Given the description of an element on the screen output the (x, y) to click on. 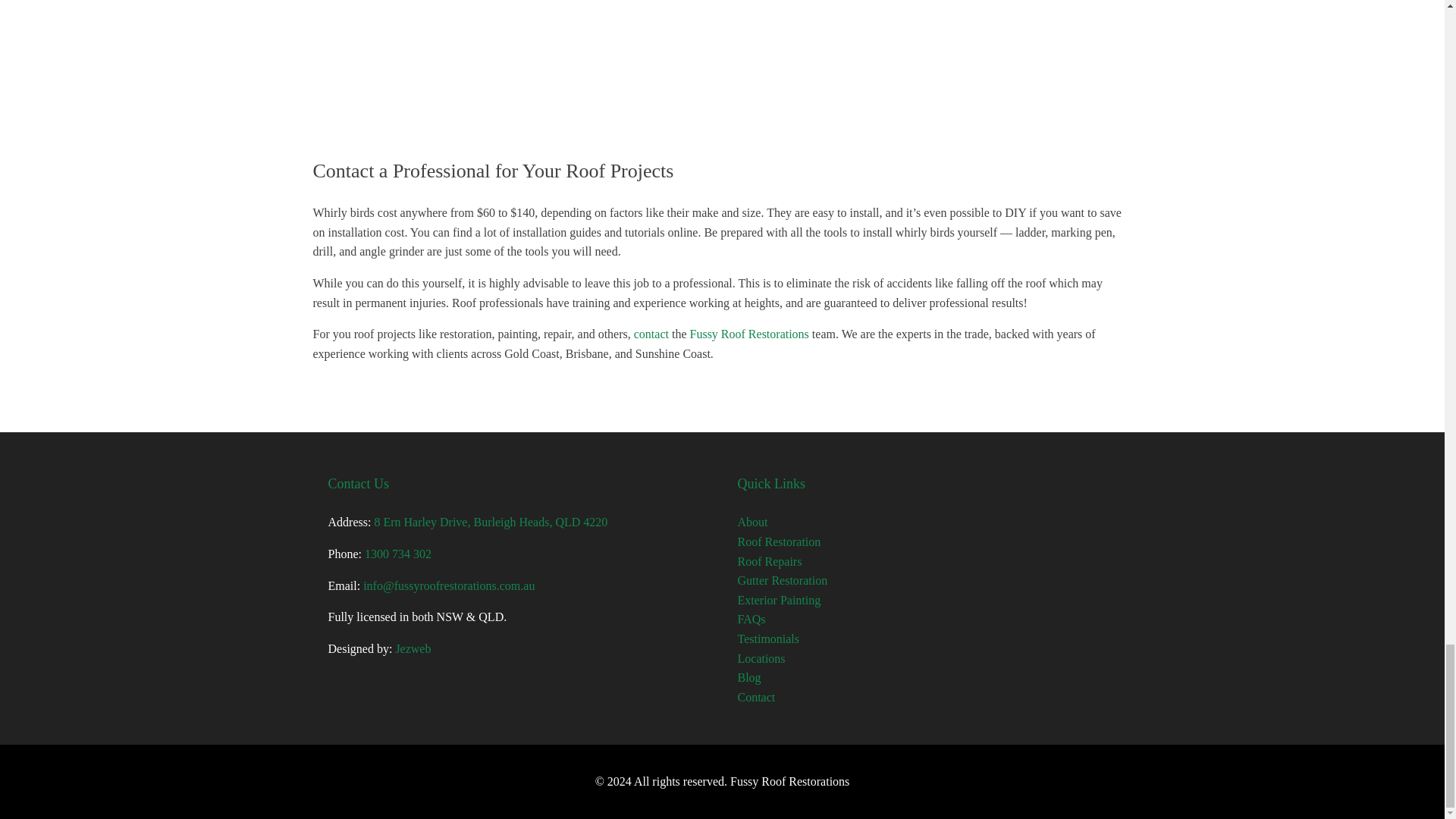
contact (650, 333)
Fussy Roof Restorations (749, 333)
Roof Restoration (778, 541)
Jezweb (412, 648)
Exterior Painting (778, 599)
8 Ern Harley Drive, Burleigh Heads, QLD 4220 (490, 521)
Gutter Restoration (781, 580)
Testimonials (767, 638)
Benefits of a Whirly Bird in Summer - whirly bird (721, 70)
Locations (760, 658)
